Given the description of an element on the screen output the (x, y) to click on. 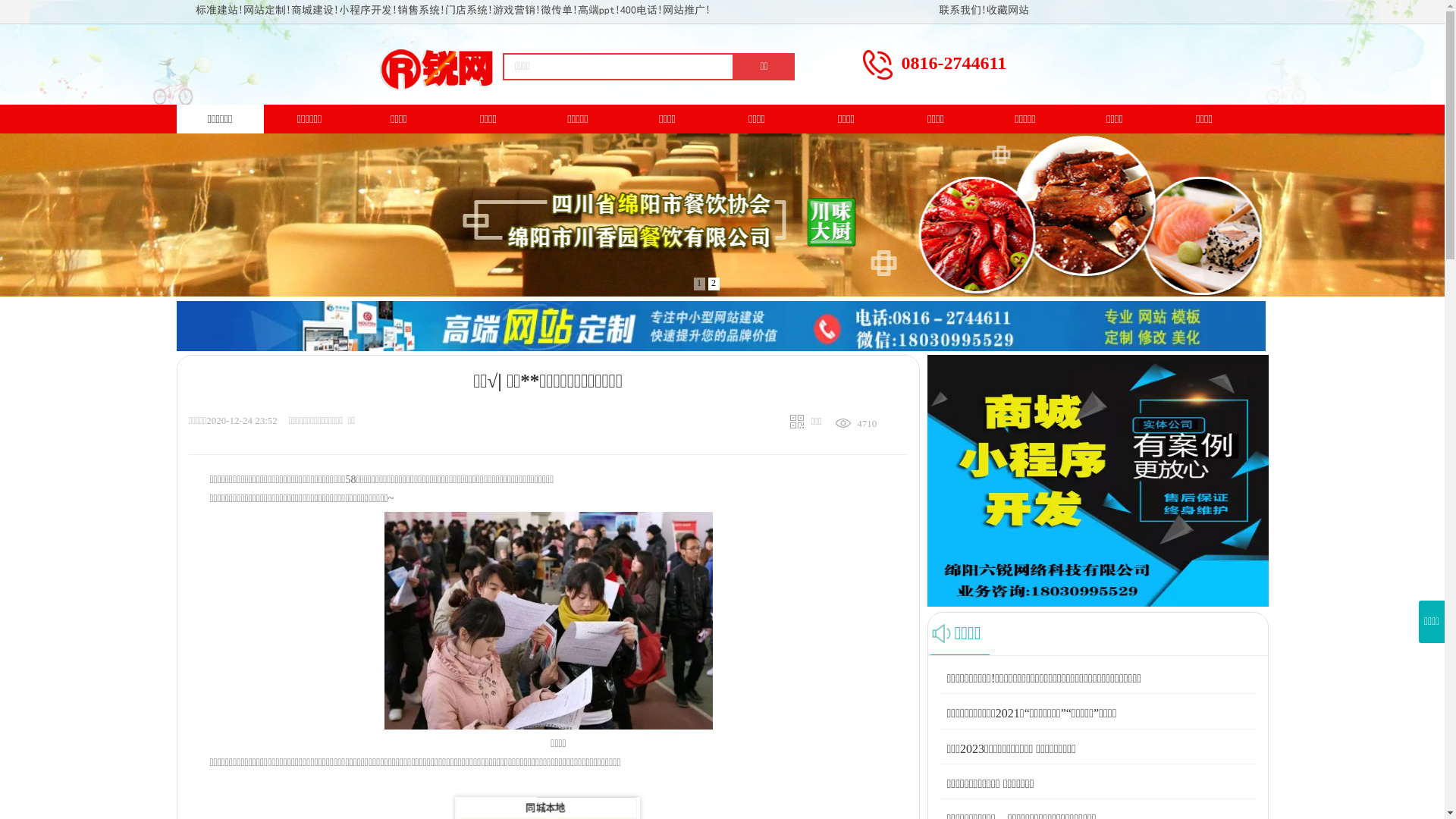
2 Element type: text (713, 283)
1 Element type: text (698, 283)
